Given the description of an element on the screen output the (x, y) to click on. 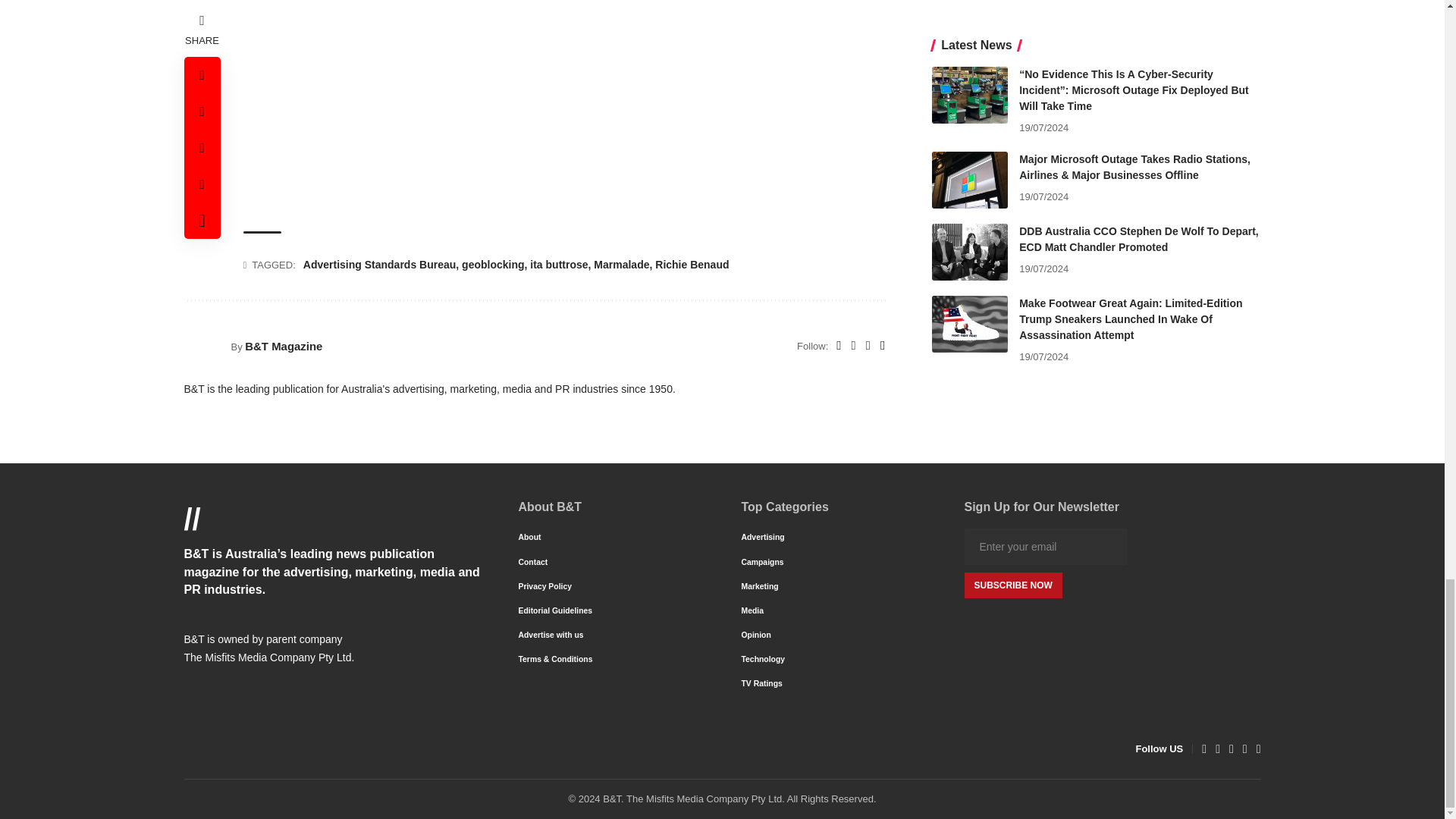
3rd party ad content (564, 109)
